Given the description of an element on the screen output the (x, y) to click on. 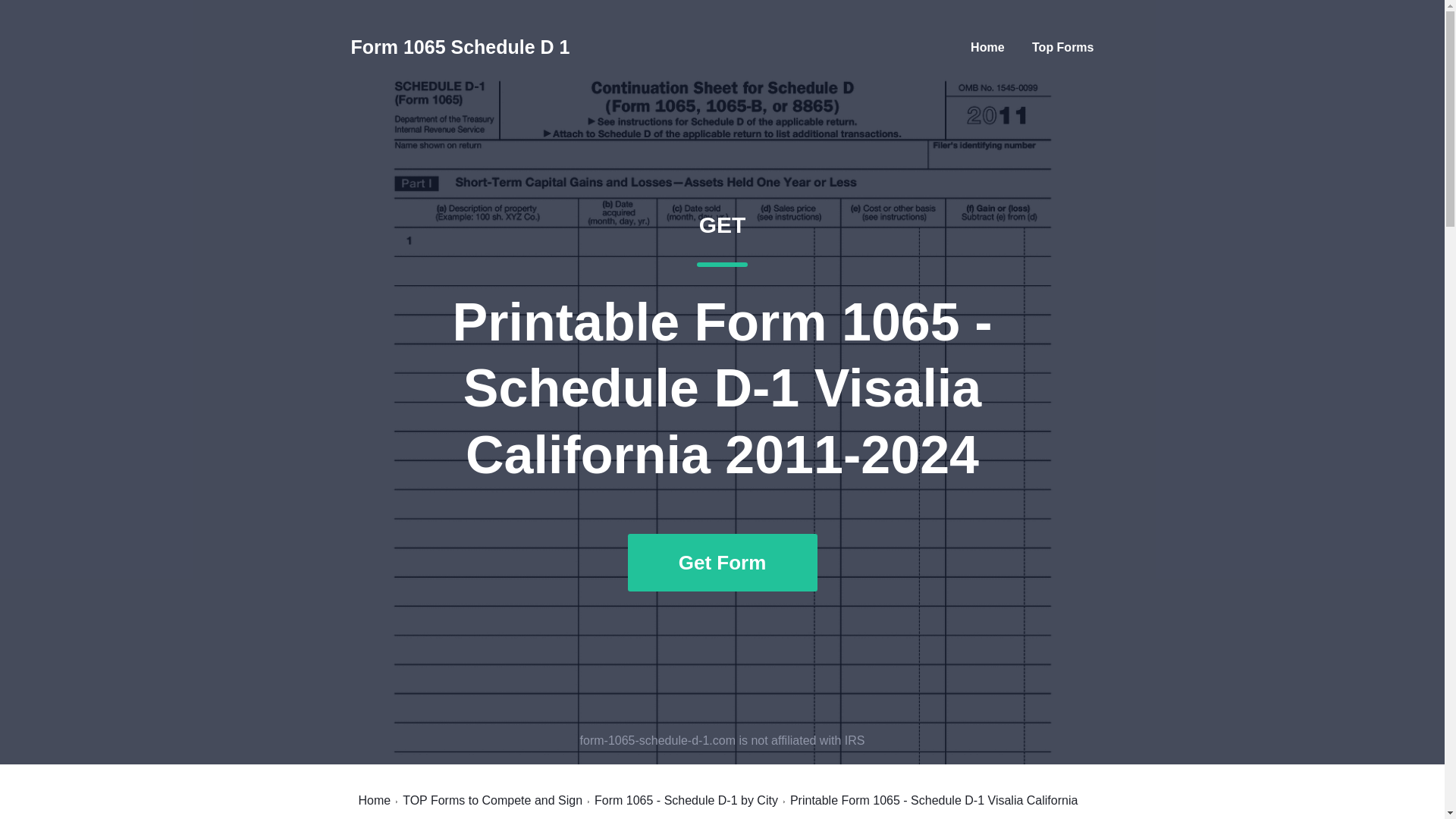
TOP Forms to Compete and Sign (492, 800)
Form 1065 - Schedule D-1 by City (685, 800)
Home (987, 47)
Top Forms (1062, 47)
Form 1065 Schedule D 1 (459, 46)
Home (374, 800)
